Given the description of an element on the screen output the (x, y) to click on. 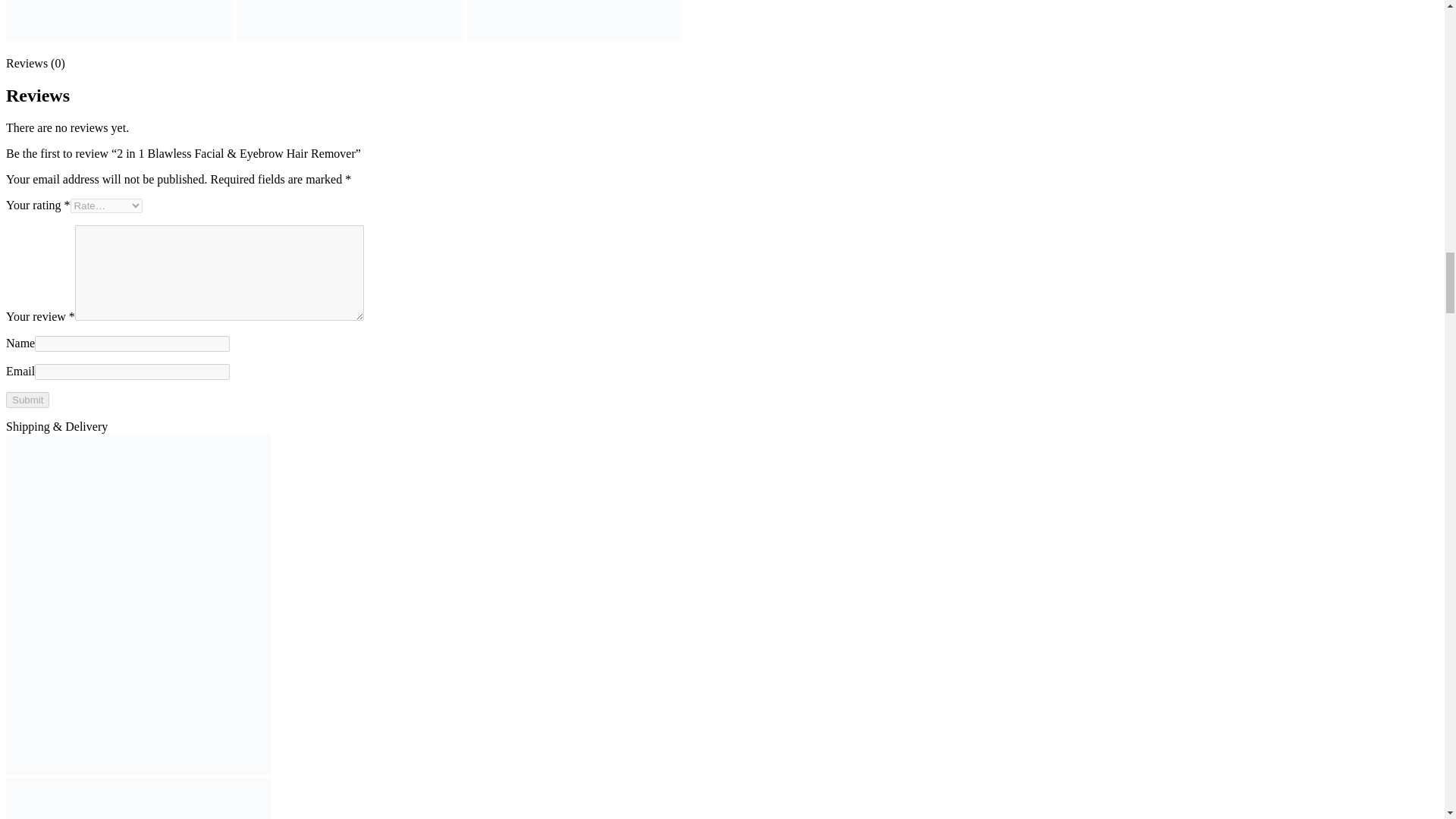
Submit (27, 399)
